Given the description of an element on the screen output the (x, y) to click on. 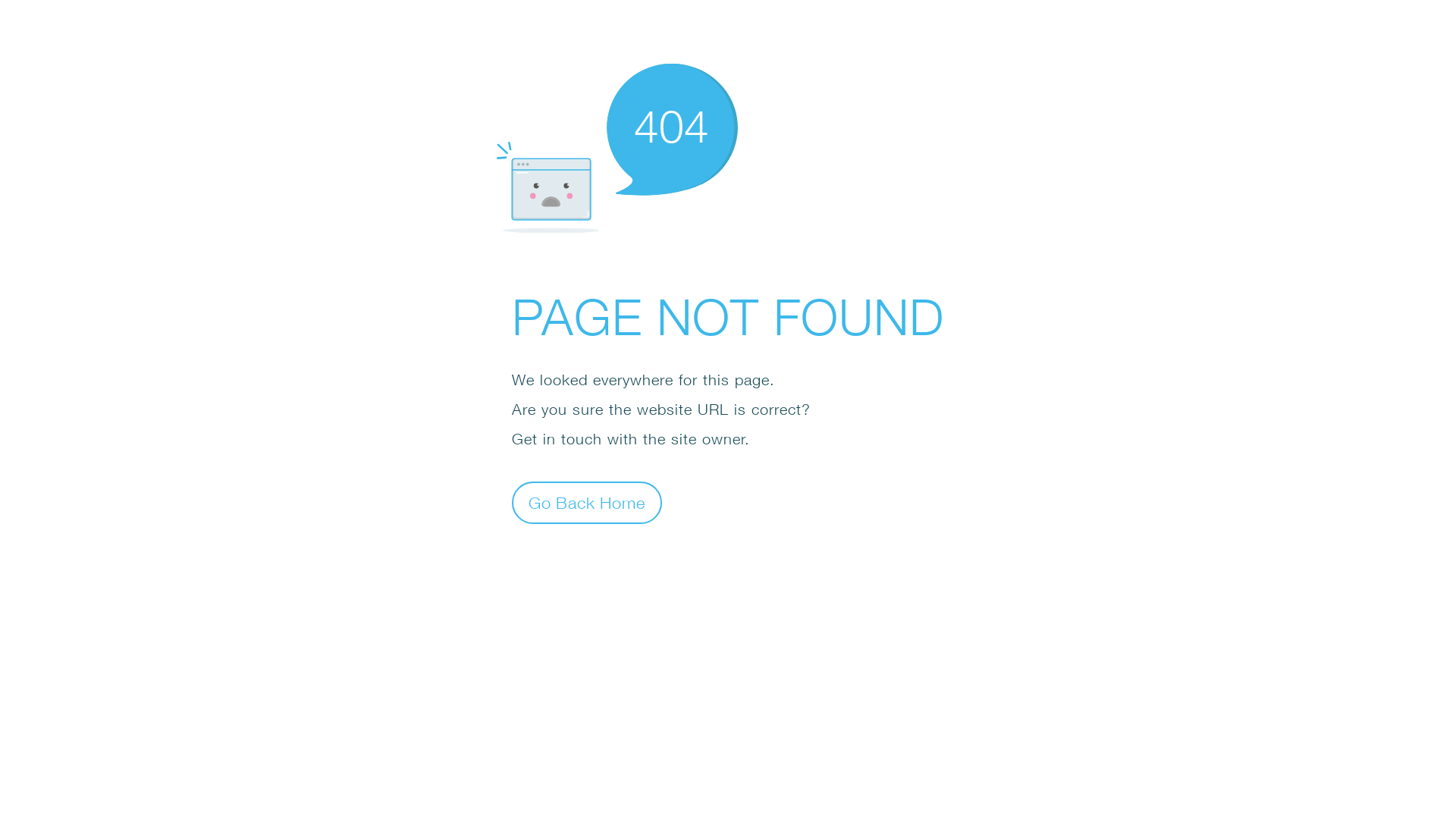
Go Back Home Element type: text (586, 502)
